Given the description of an element on the screen output the (x, y) to click on. 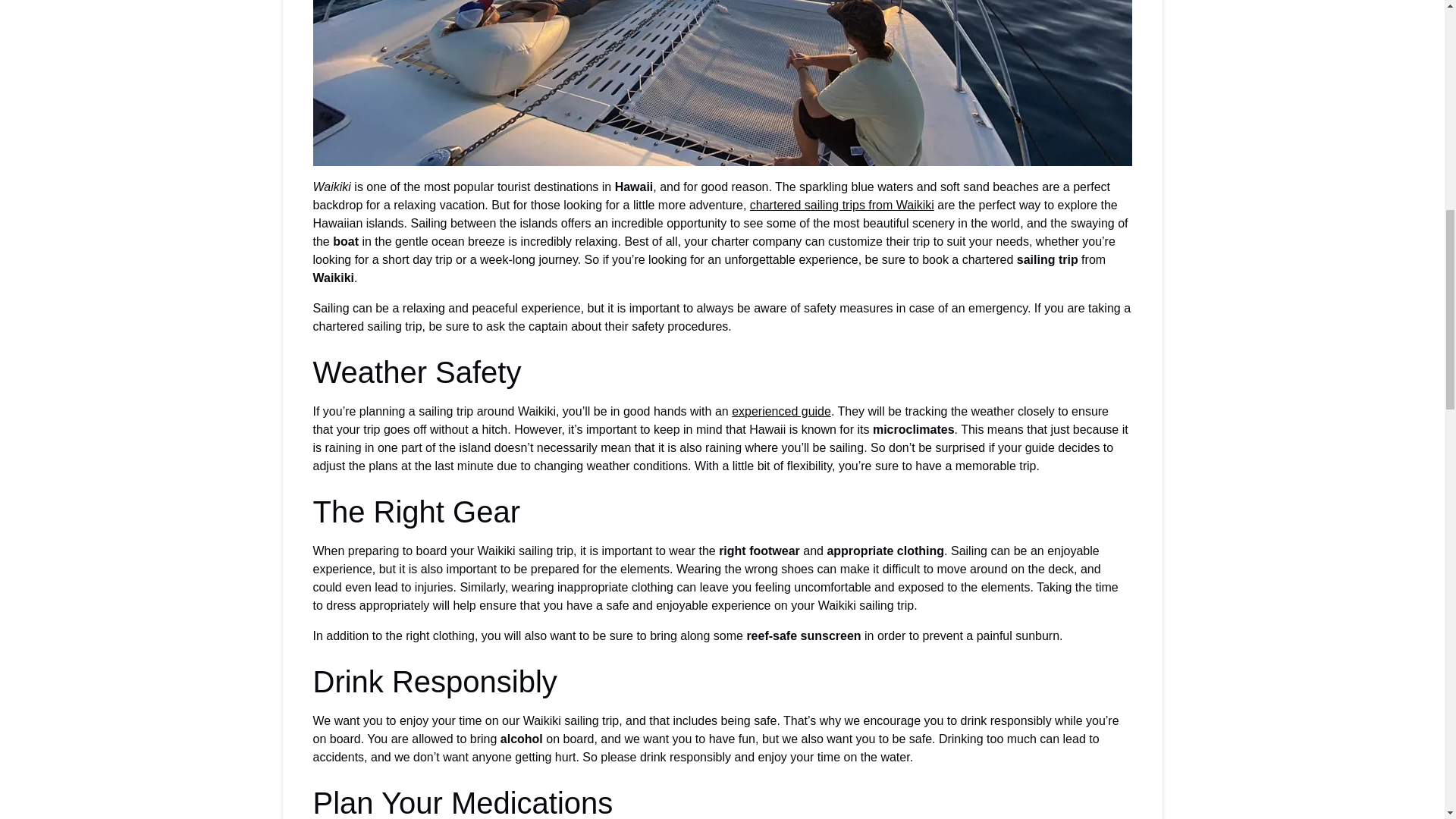
FareHarbor (1342, 64)
chartered sailing trips from Waikiki (841, 205)
experienced guide (781, 410)
